Given the description of an element on the screen output the (x, y) to click on. 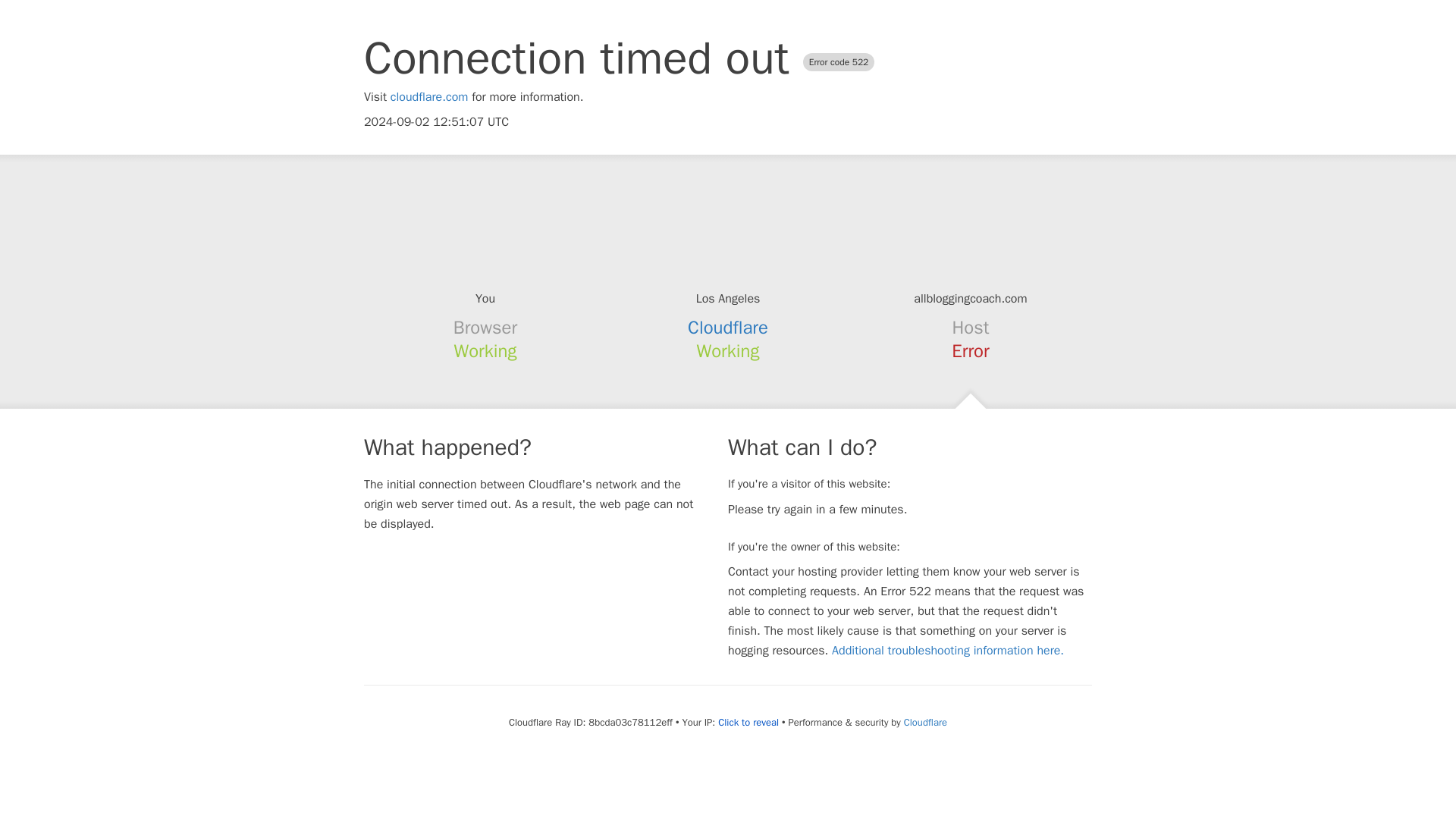
Additional troubleshooting information here. (947, 650)
Cloudflare (925, 721)
cloudflare.com (429, 96)
Cloudflare (727, 327)
Click to reveal (747, 722)
